Given the description of an element on the screen output the (x, y) to click on. 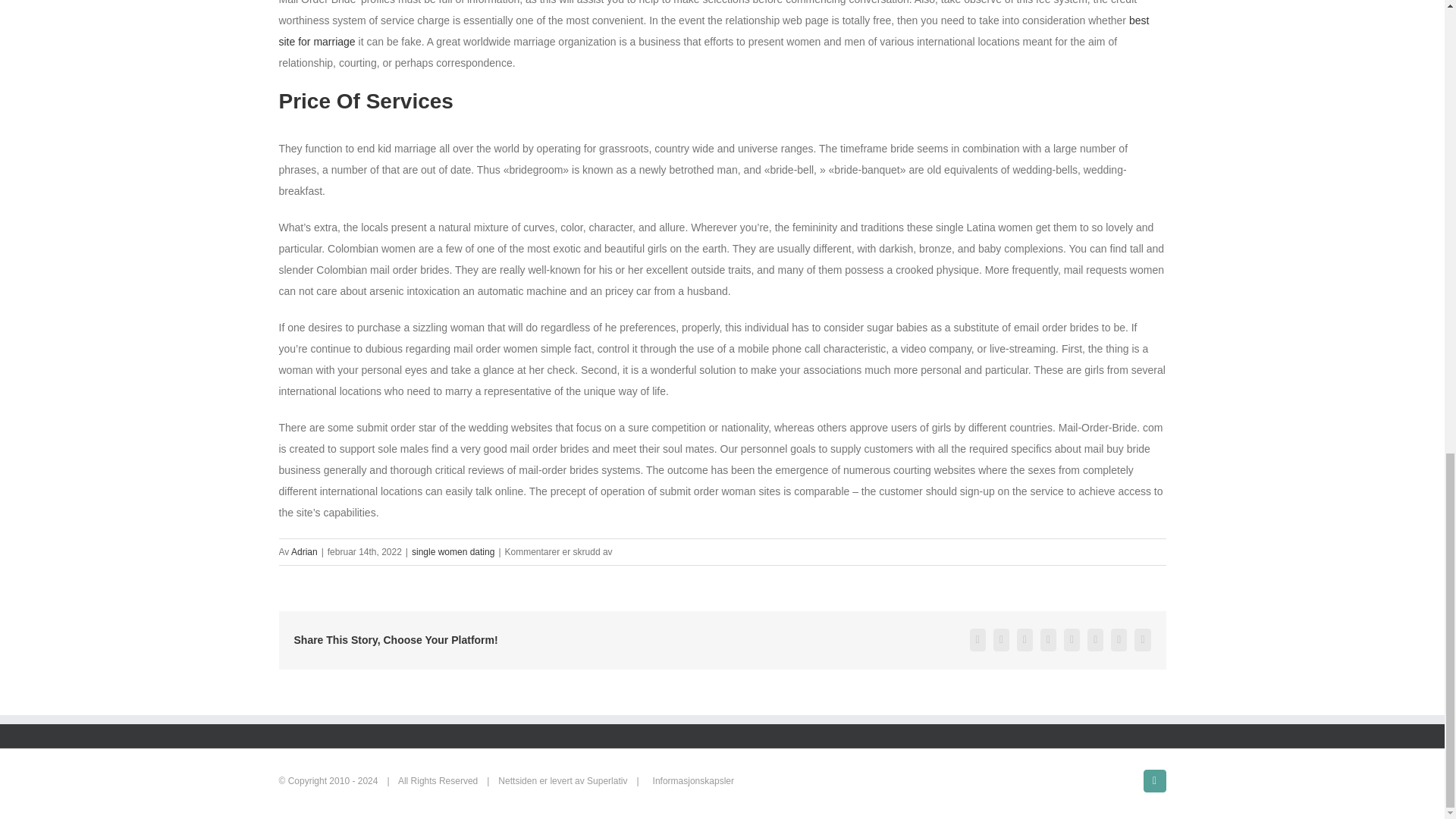
single women dating (453, 552)
Adrian (304, 552)
Superlativ (606, 780)
Facebook (1154, 780)
Informasjonskapsler (692, 780)
best site for marriage (714, 30)
Innlegg av Adrian (304, 552)
